Given the description of an element on the screen output the (x, y) to click on. 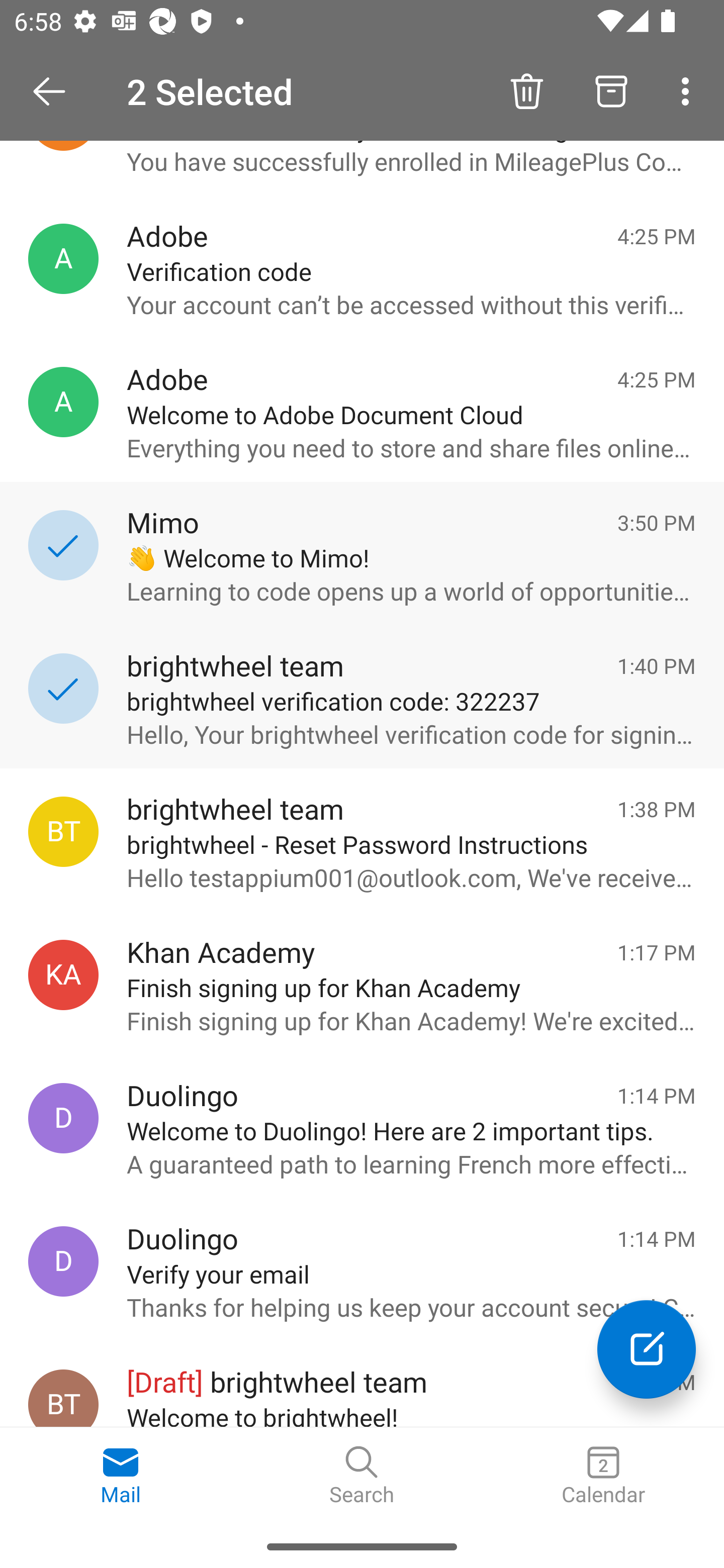
Delete (526, 90)
Archive (611, 90)
More options (688, 90)
Open Navigation Drawer (55, 91)
Adobe, message@adobe.com (63, 259)
Adobe, message@adobe.com (63, 401)
brightwheel team, recovery@mybrightwheel.com (63, 831)
Khan Academy, no-reply@khanacademy.org (63, 974)
Duolingo, hello@duolingo.com (63, 1118)
Duolingo, hello@duolingo.com (63, 1261)
Compose (646, 1348)
brightwheel team, welcome@mybrightwheel.com (63, 1397)
Search (361, 1475)
Calendar (603, 1475)
